Given the description of an element on the screen output the (x, y) to click on. 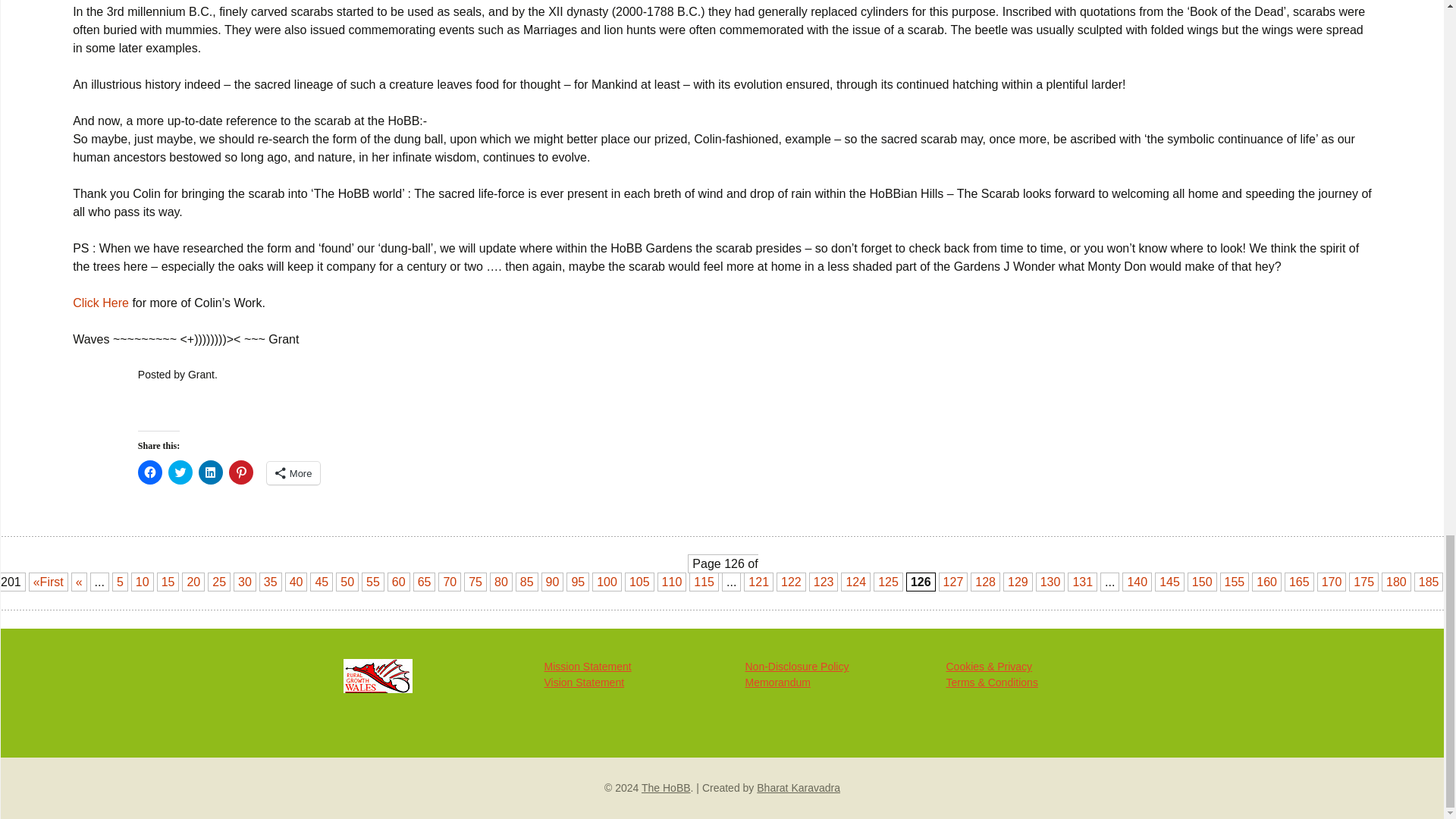
Click to share on LinkedIn (210, 472)
Click to share on Twitter (180, 472)
Click to share on Facebook (149, 472)
Click to share on Pinterest (240, 472)
